Given the description of an element on the screen output the (x, y) to click on. 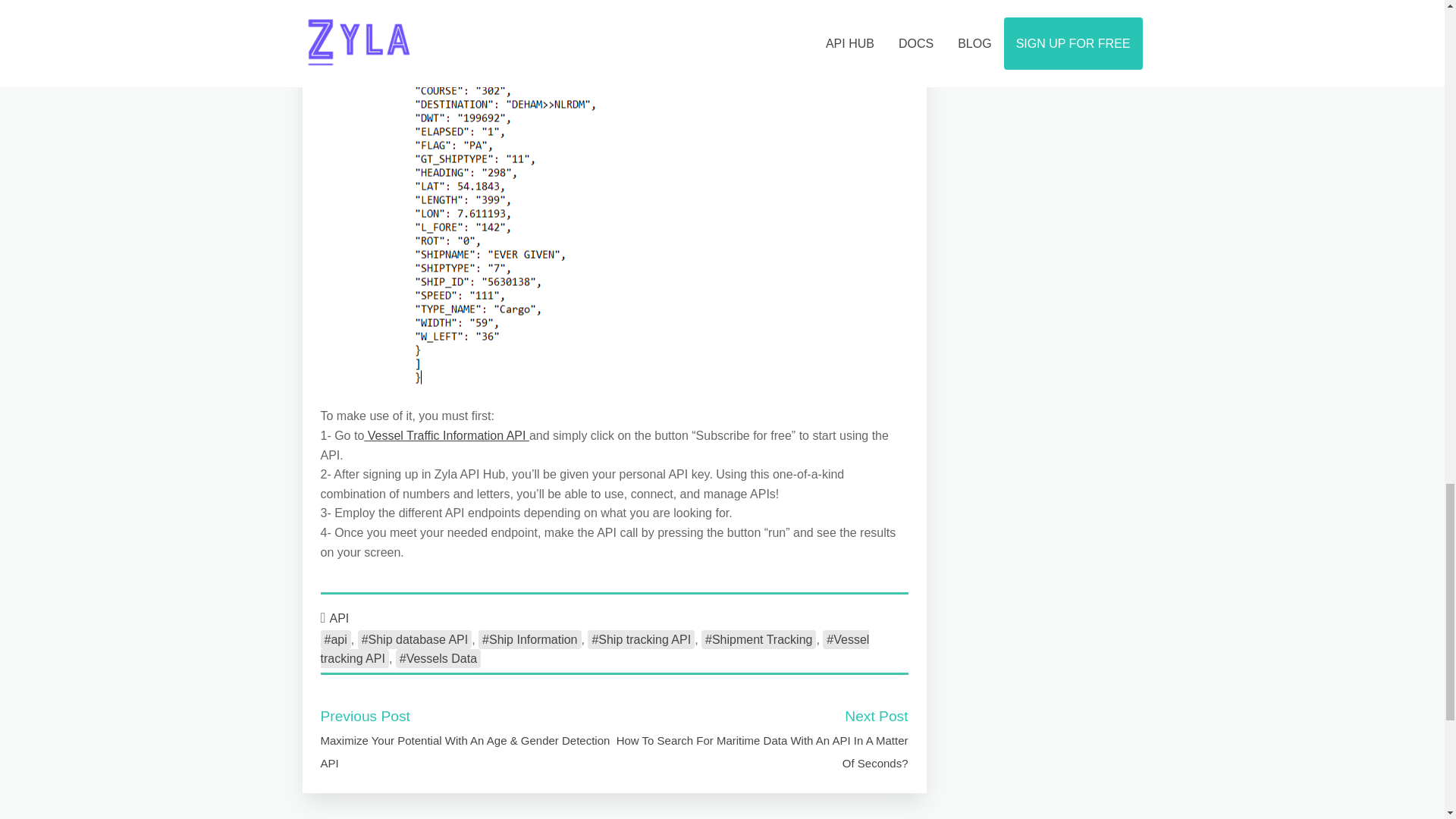
API (339, 617)
Next Post (875, 715)
 Vessel Traffic Information API  (446, 435)
Previous Post (364, 715)
